Given the description of an element on the screen output the (x, y) to click on. 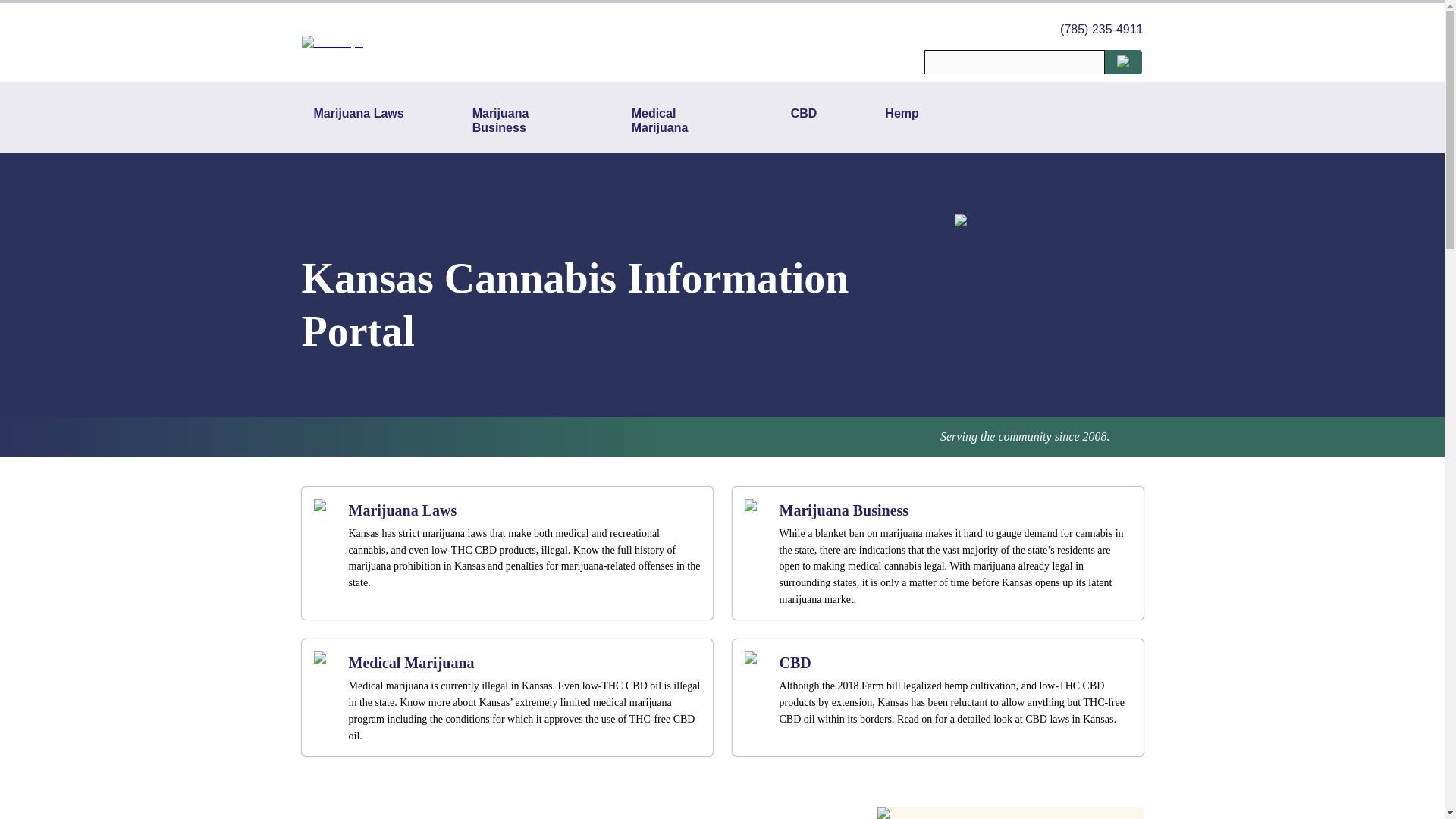
Marijuana Business (937, 552)
Marijuana Laws (507, 552)
Medical Marijuana (677, 119)
CBD (803, 119)
Marijuana Business (517, 119)
Marijuana Laws (358, 119)
Medical Marijuana (507, 697)
CBD (937, 697)
Hemp (901, 119)
